Given the description of an element on the screen output the (x, y) to click on. 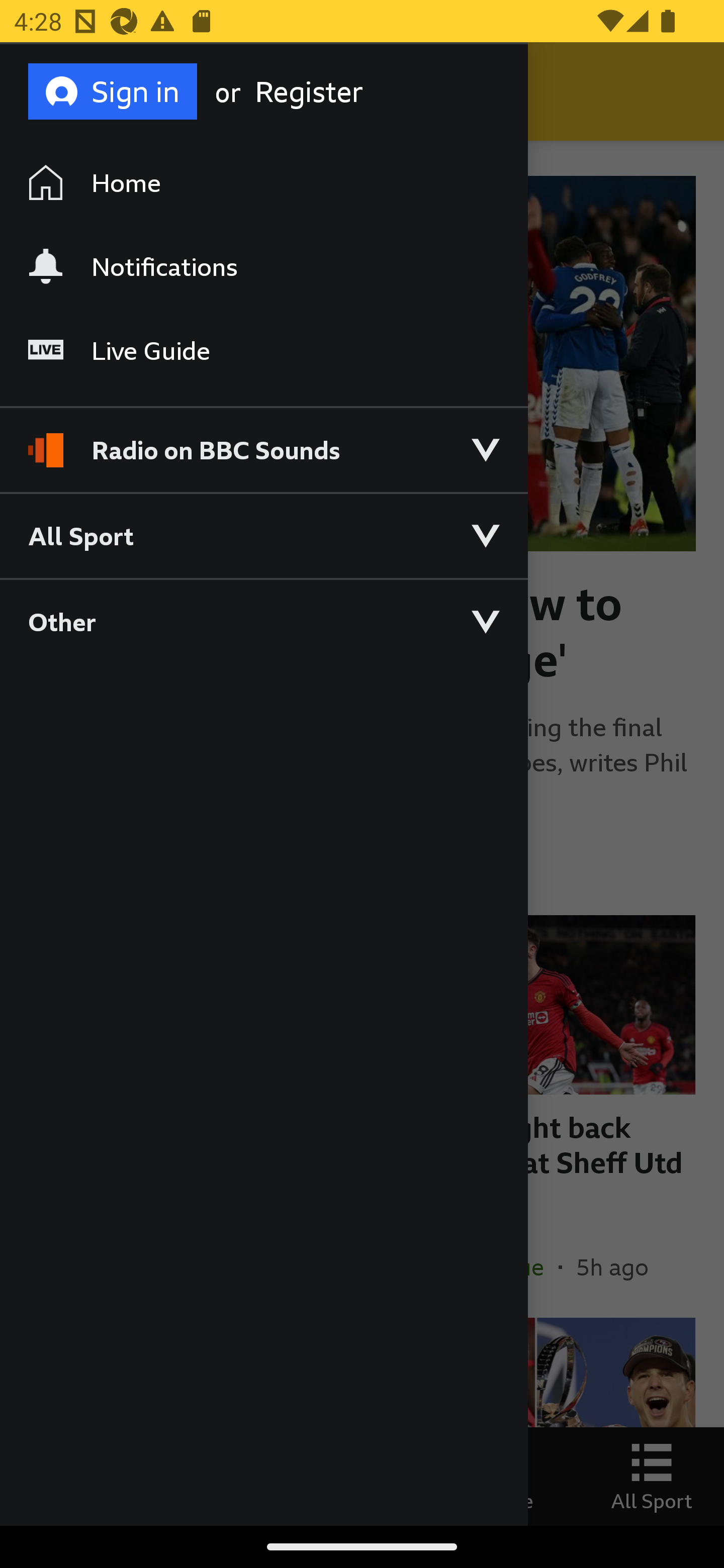
Register (333, 91)
Sign in (112, 90)
Home (263, 181)
Notifications (263, 266)
Live Guide (263, 349)
Radio on BBC Sounds (263, 442)
All Sport (263, 535)
Other (263, 621)
